Given the description of an element on the screen output the (x, y) to click on. 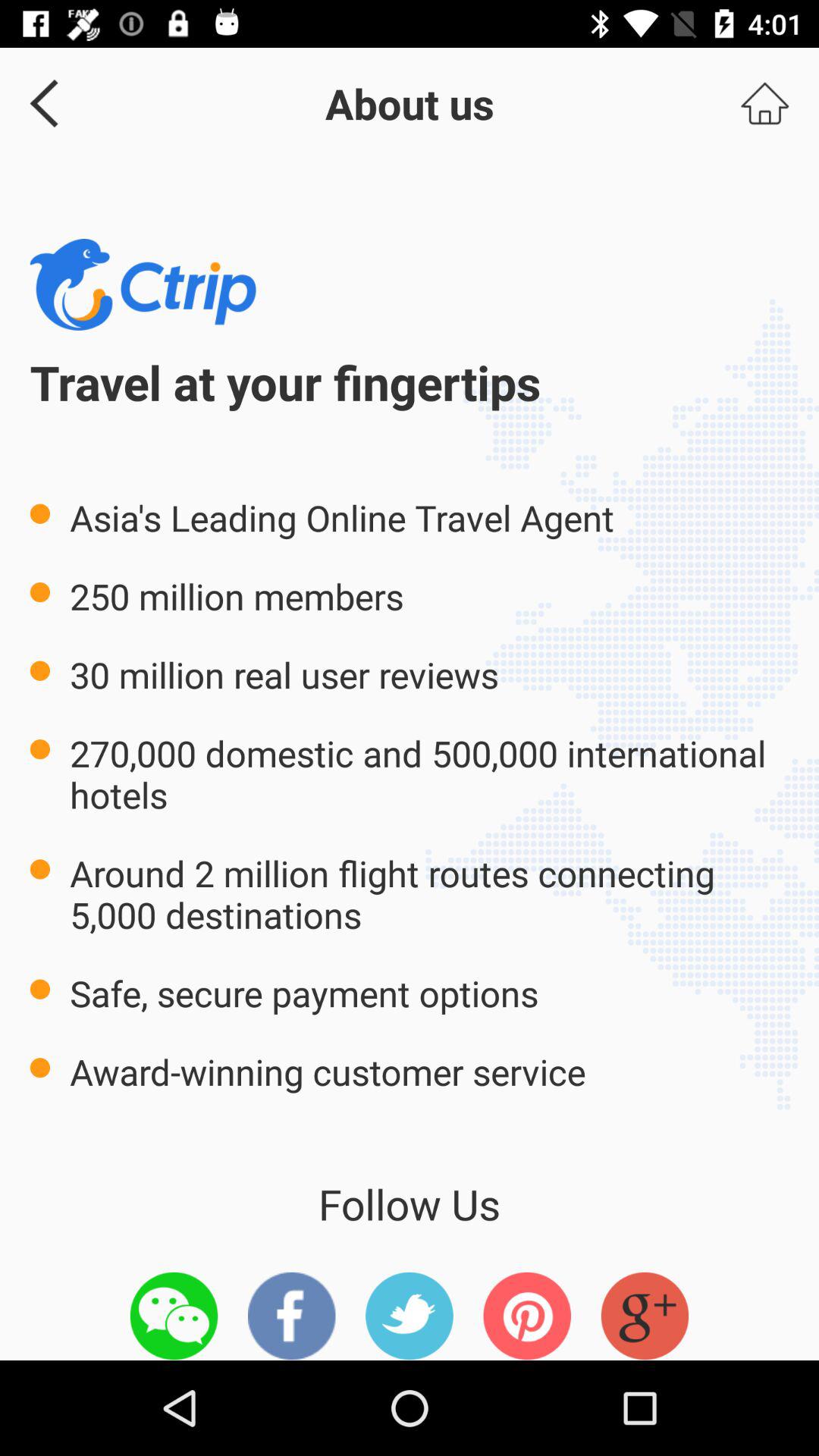
choose the icon above 270 000 domestic item (764, 103)
